Given the description of an element on the screen output the (x, y) to click on. 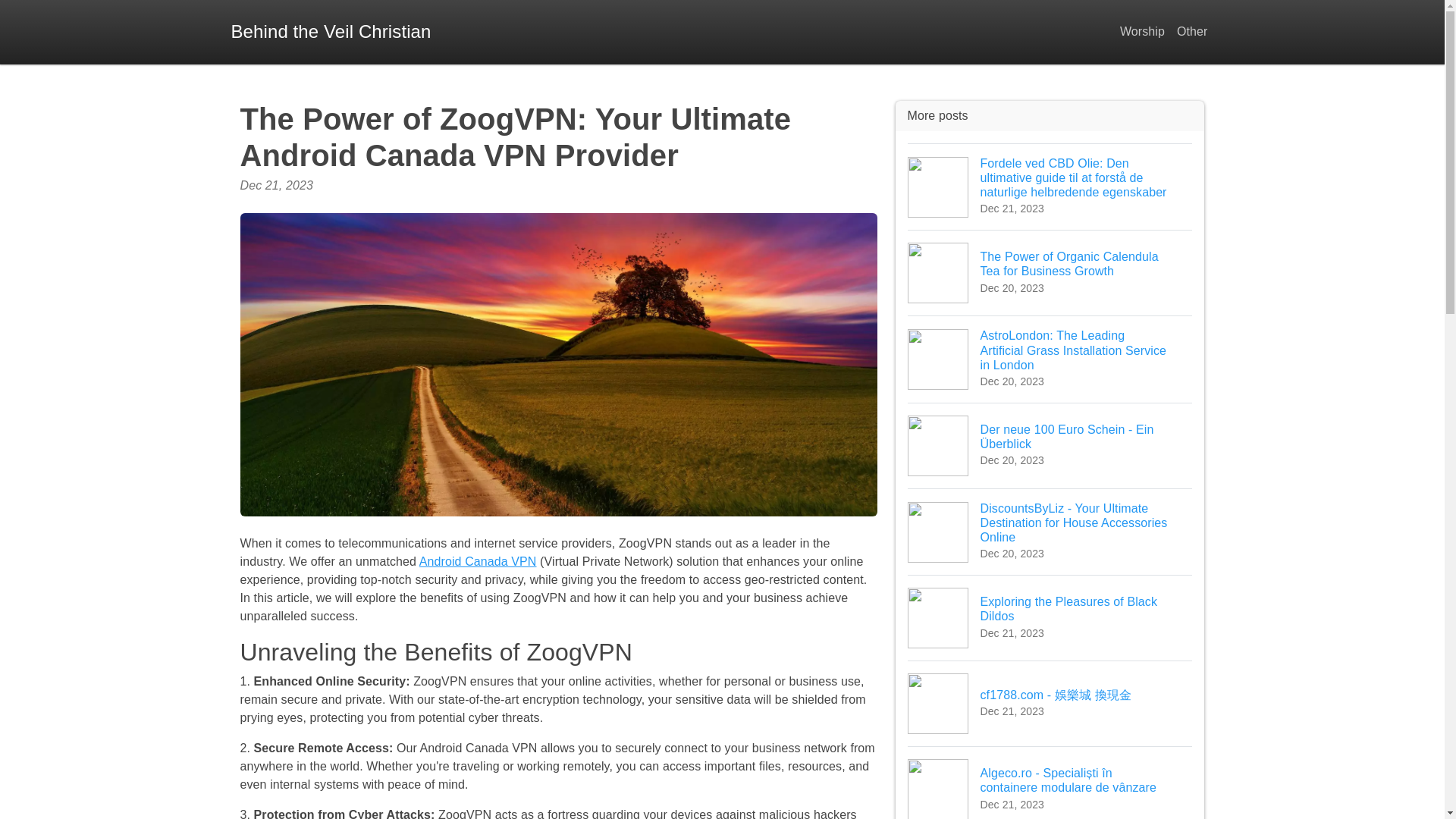
Other (1192, 32)
Worship (1049, 617)
Android Canada VPN (1141, 32)
Behind the Veil Christian (478, 561)
